Given the description of an element on the screen output the (x, y) to click on. 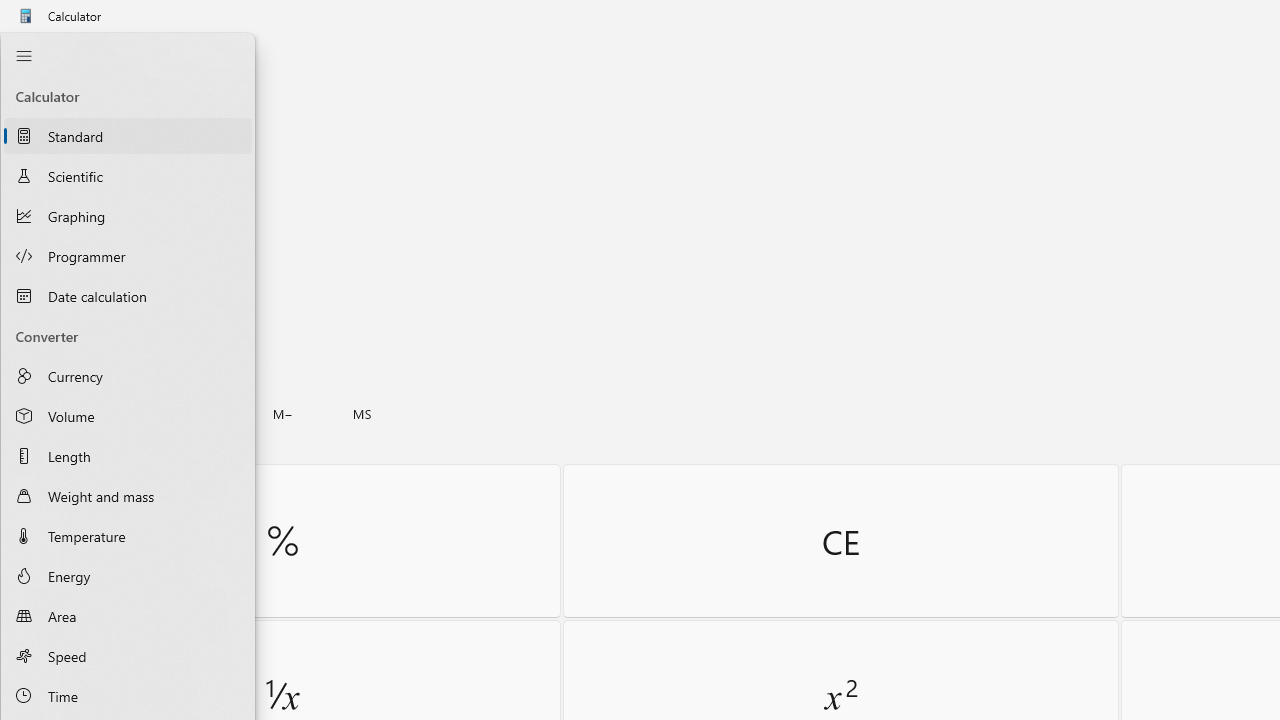
Time Converter (127, 696)
Keep on top (155, 56)
Memory store (362, 414)
Length Converter (127, 455)
Clear entry (840, 540)
Memory recall (123, 414)
Standard Calculator (127, 136)
Temperature Converter (127, 535)
Weight and mass Converter (127, 496)
Graphing Calculator (127, 216)
Energy Converter (127, 576)
Area Converter (127, 616)
Programmer Calculator (127, 256)
Speed Converter (127, 655)
Percent (281, 540)
